Given the description of an element on the screen output the (x, y) to click on. 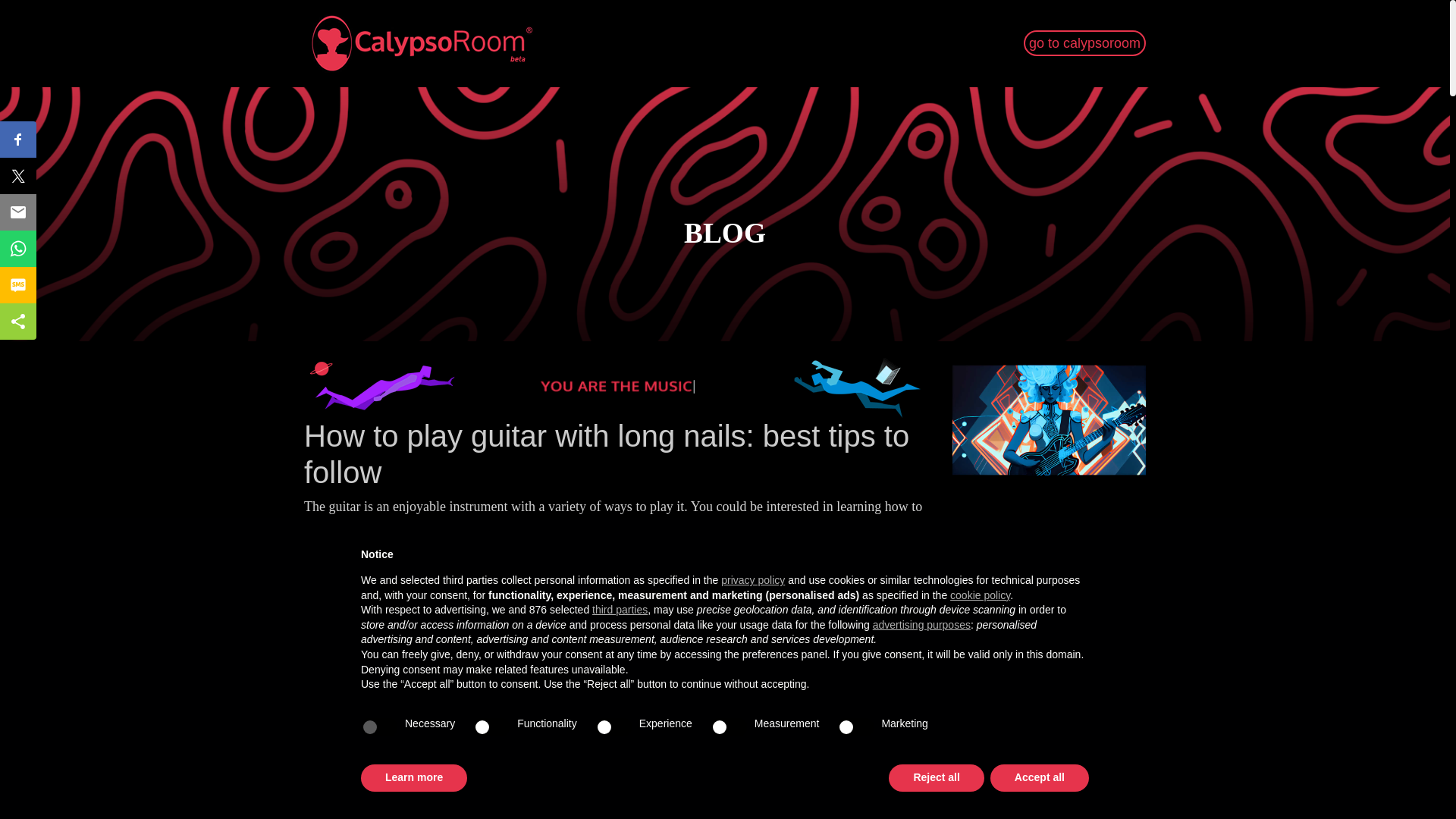
false (855, 727)
Privacy Policy (1105, 747)
2 (970, 746)
BLOG (724, 232)
go to calypsoroom (1084, 43)
false (491, 727)
true (379, 727)
Subscribe (1048, 709)
false (728, 727)
false (613, 727)
